Given the description of an element on the screen output the (x, y) to click on. 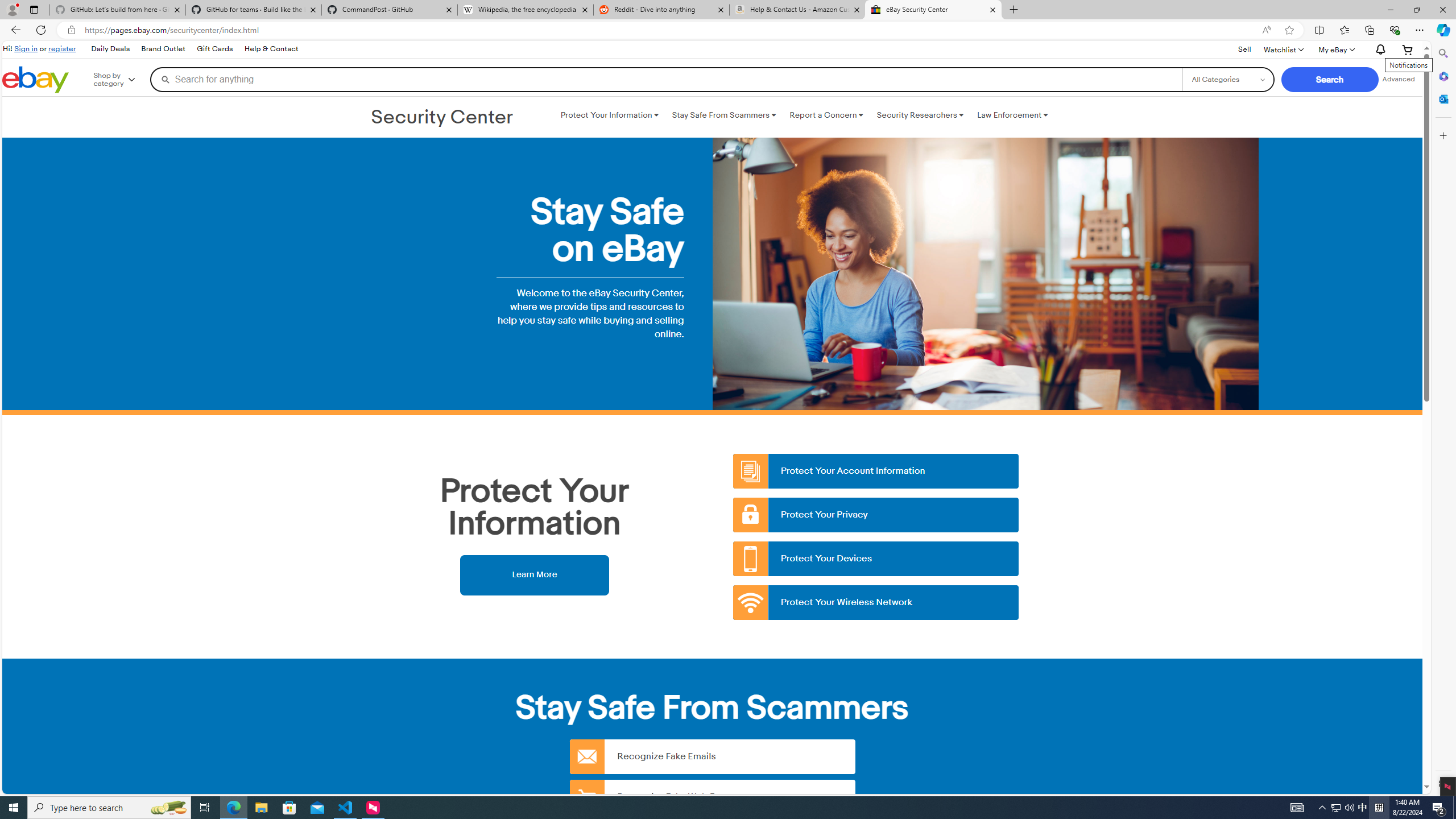
Shop by category (122, 79)
Daily Deals (109, 49)
Your shopping cart (1407, 49)
Protect Your Devices (876, 558)
Gift Cards (214, 49)
Stay Safe From Scammers  (723, 115)
Help & Contact Us - Amazon Customer Service - Sleeping (797, 9)
Watchlist (1282, 49)
Stay Safe From Scammers  (723, 115)
Law Enforcement  (1012, 115)
